Given the description of an element on the screen output the (x, y) to click on. 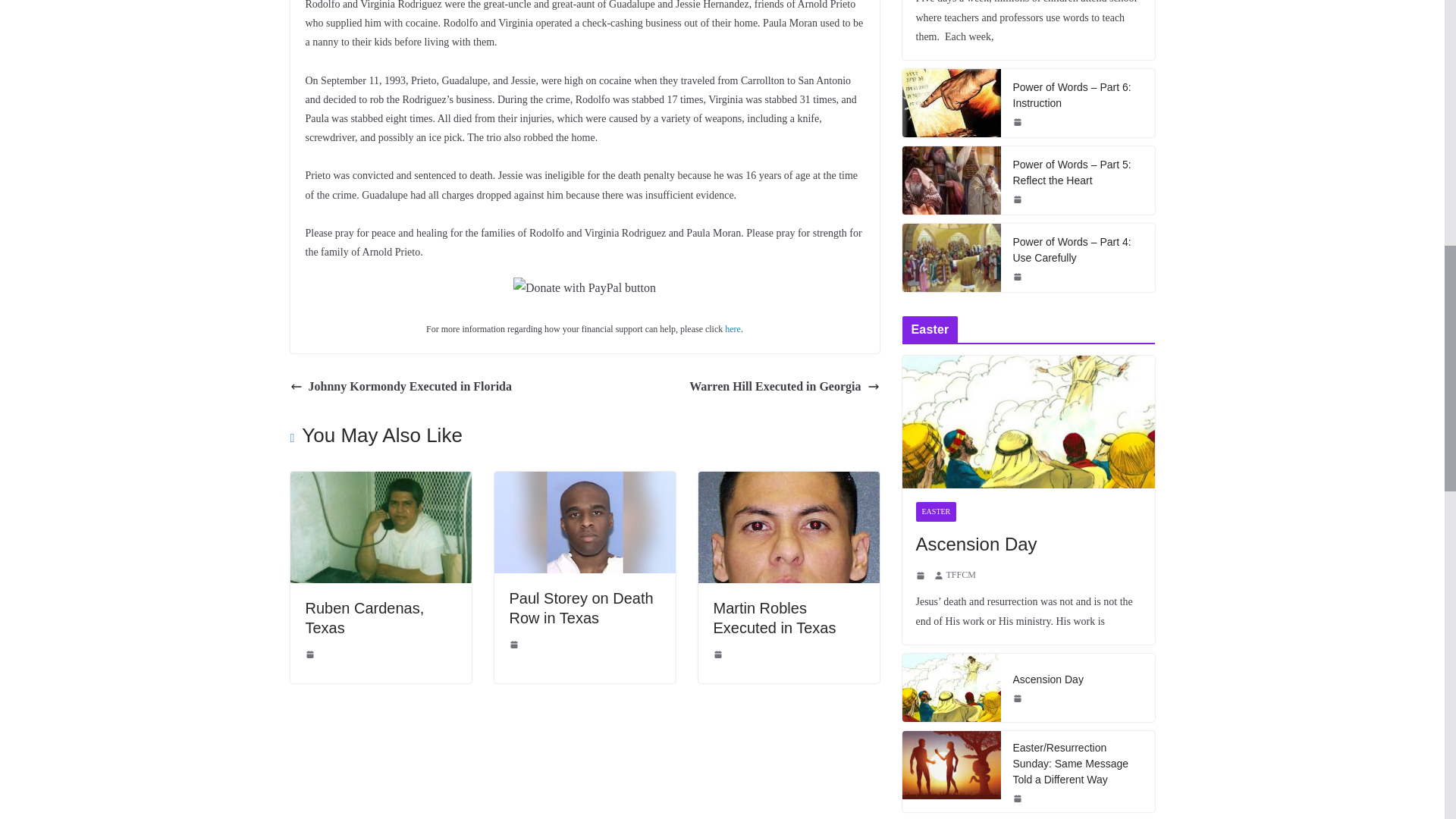
Ruben Cardenas, Texas (363, 617)
Ruben Cardenas, Texas (379, 481)
Paul Storey on Death Row in Texas (581, 607)
Paul Storey on Death Row in Texas (585, 481)
1:51 am (515, 644)
9:21 pm (310, 654)
PayPal - The safer, easier way to pay online! (584, 288)
11:08 pm (719, 654)
